Given the description of an element on the screen output the (x, y) to click on. 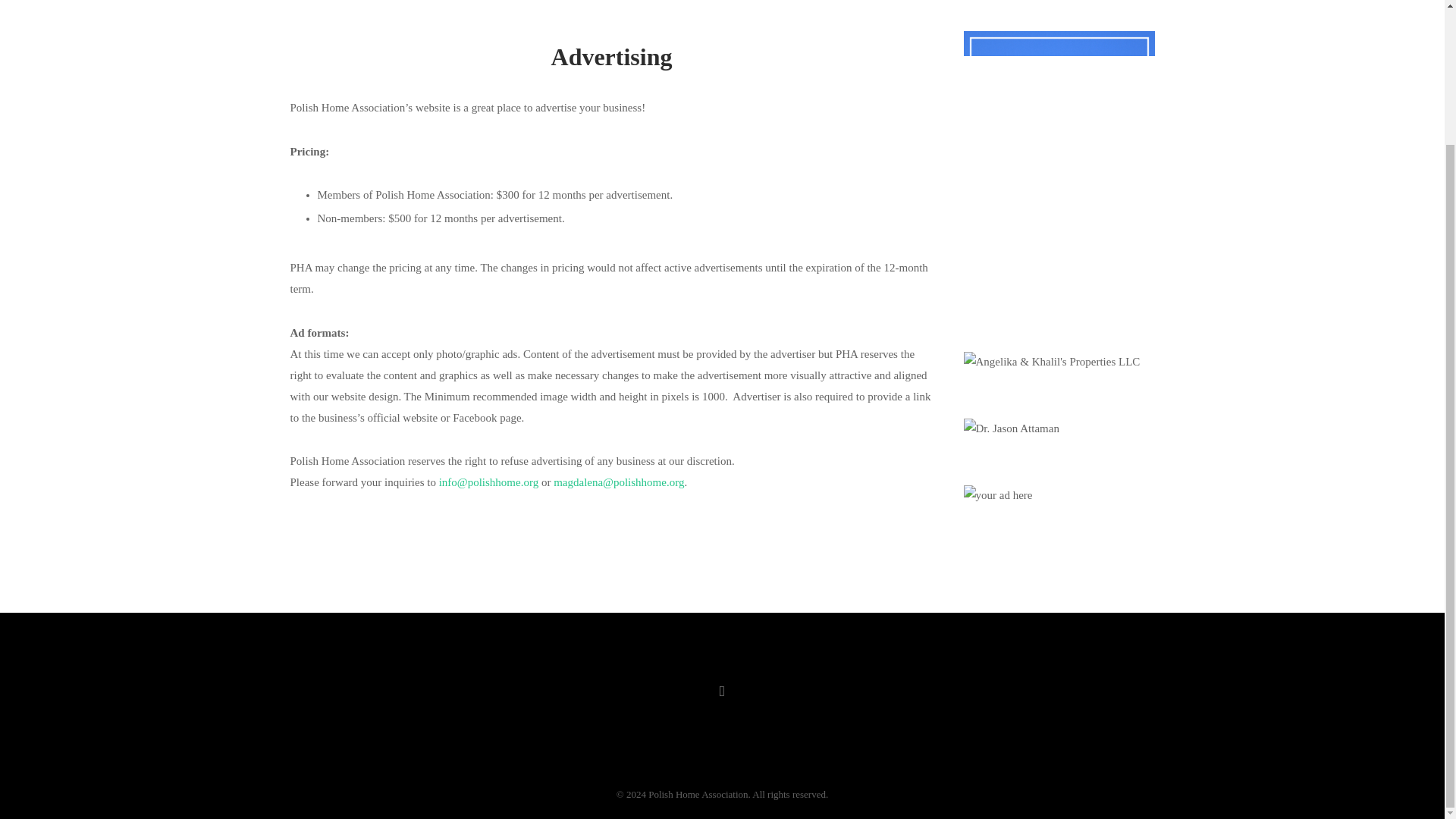
Polish Home Association on Facebook (722, 691)
